Given the description of an element on the screen output the (x, y) to click on. 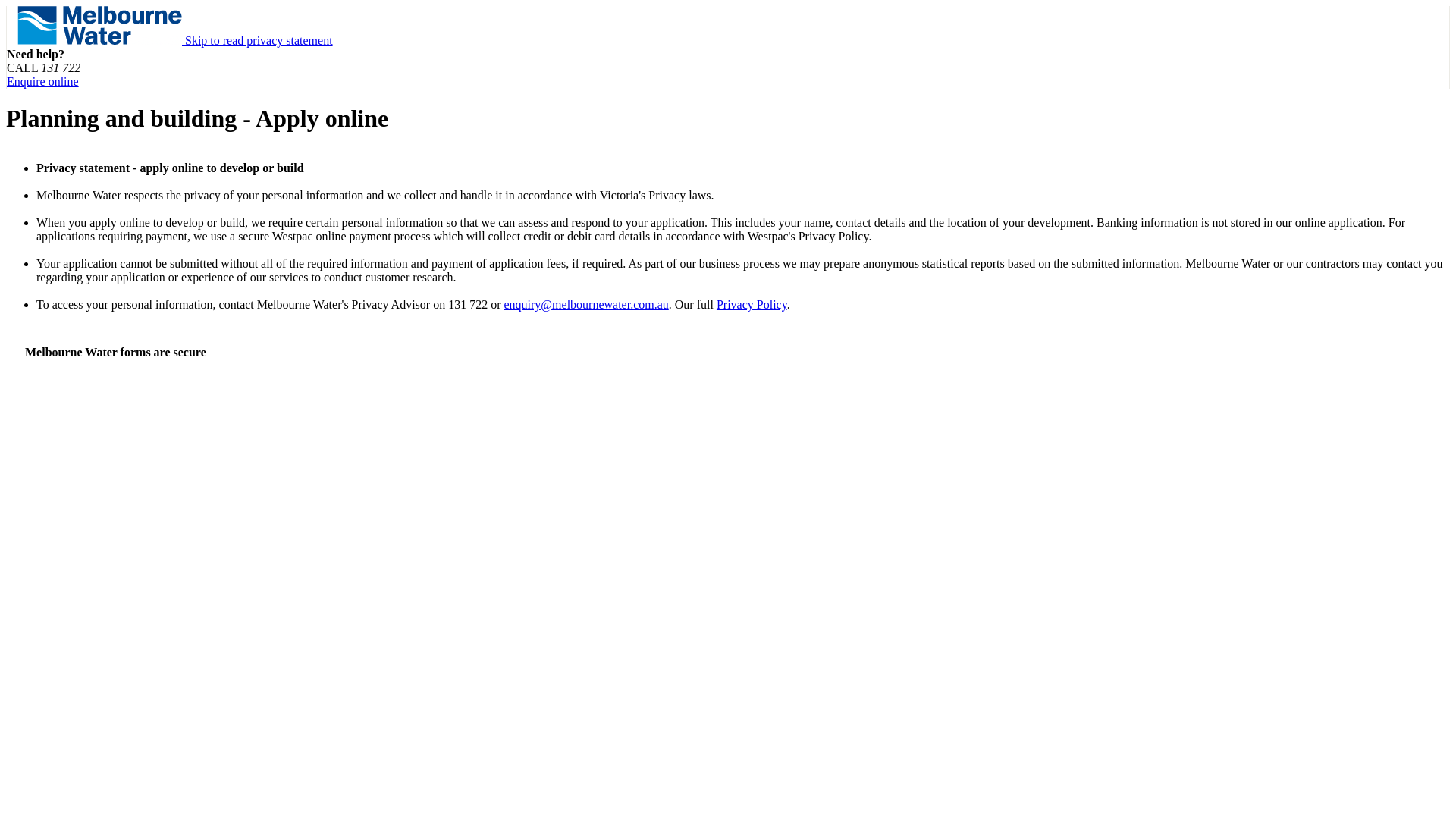
enquiry@melbournewater.com.au Element type: text (585, 304)
Privacy Policy Element type: text (751, 304)
Skip to read privacy statement Element type: text (258, 40)
Melbourne Water Home (opens in new tab) Element type: hover (101, 40)
Enquire online Element type: text (42, 81)
